Given the description of an element on the screen output the (x, y) to click on. 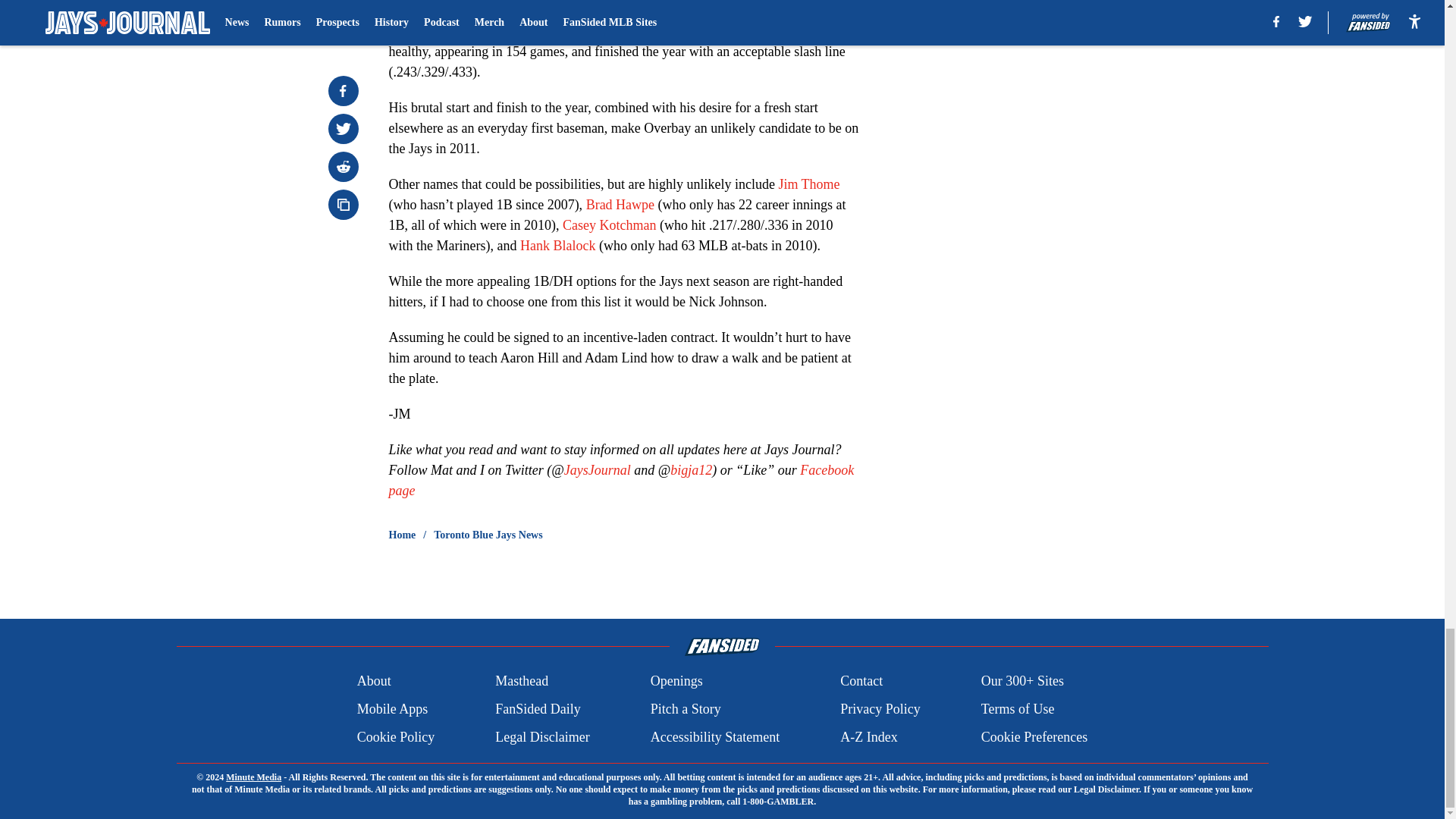
Masthead (521, 680)
Home (401, 534)
bigja12 (690, 469)
Jim Thome (808, 183)
Casey Kotchman (609, 224)
JaysJournal (597, 469)
About (373, 680)
Facebook page (620, 479)
Brad Hawpe (619, 204)
Hank Blalock (557, 245)
Toronto Blue Jays News (488, 534)
